Given the description of an element on the screen output the (x, y) to click on. 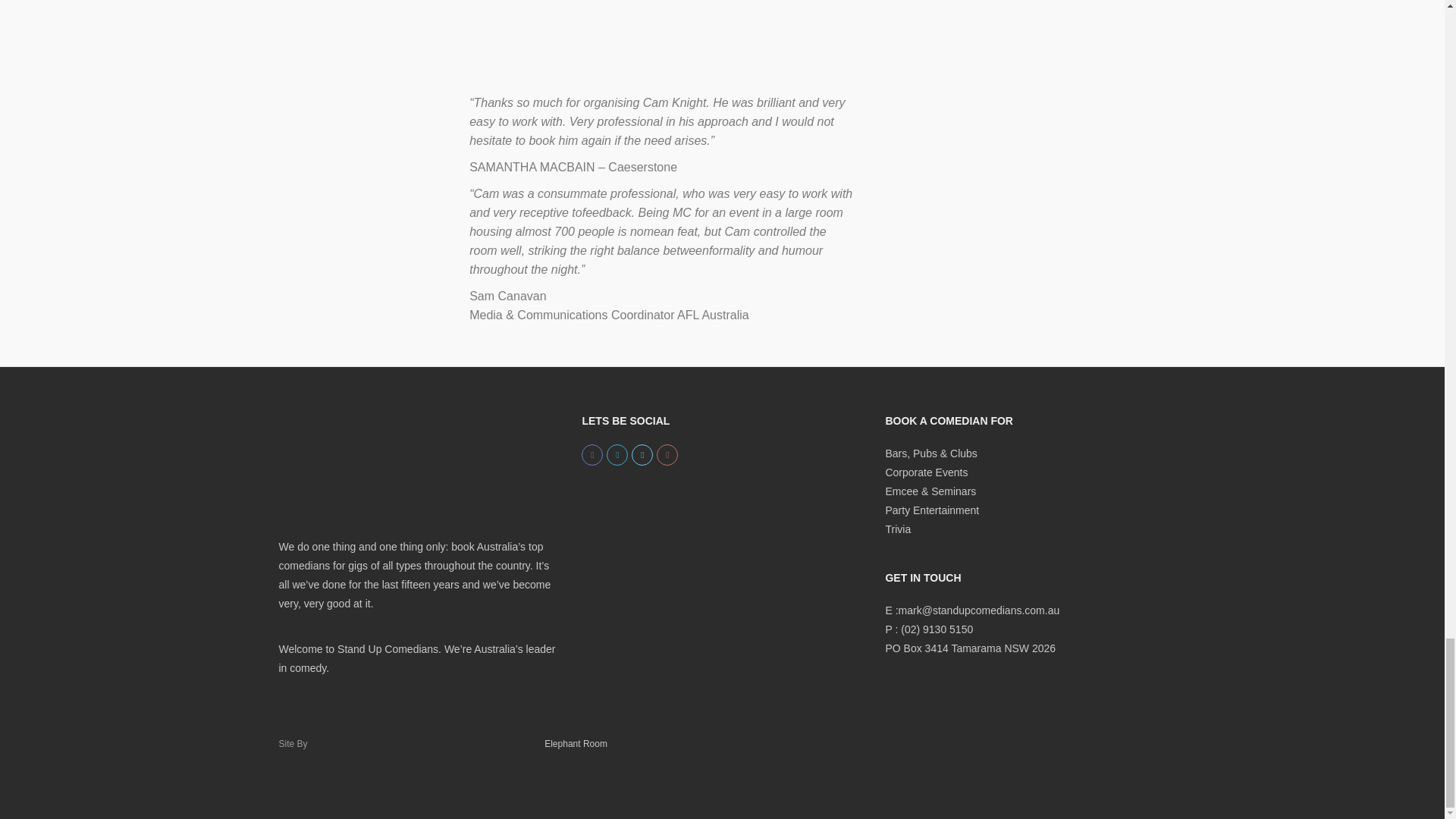
Elephant Room (574, 743)
Corporate Events (926, 472)
Party Entertainment (931, 510)
Trivia (898, 529)
